Given the description of an element on the screen output the (x, y) to click on. 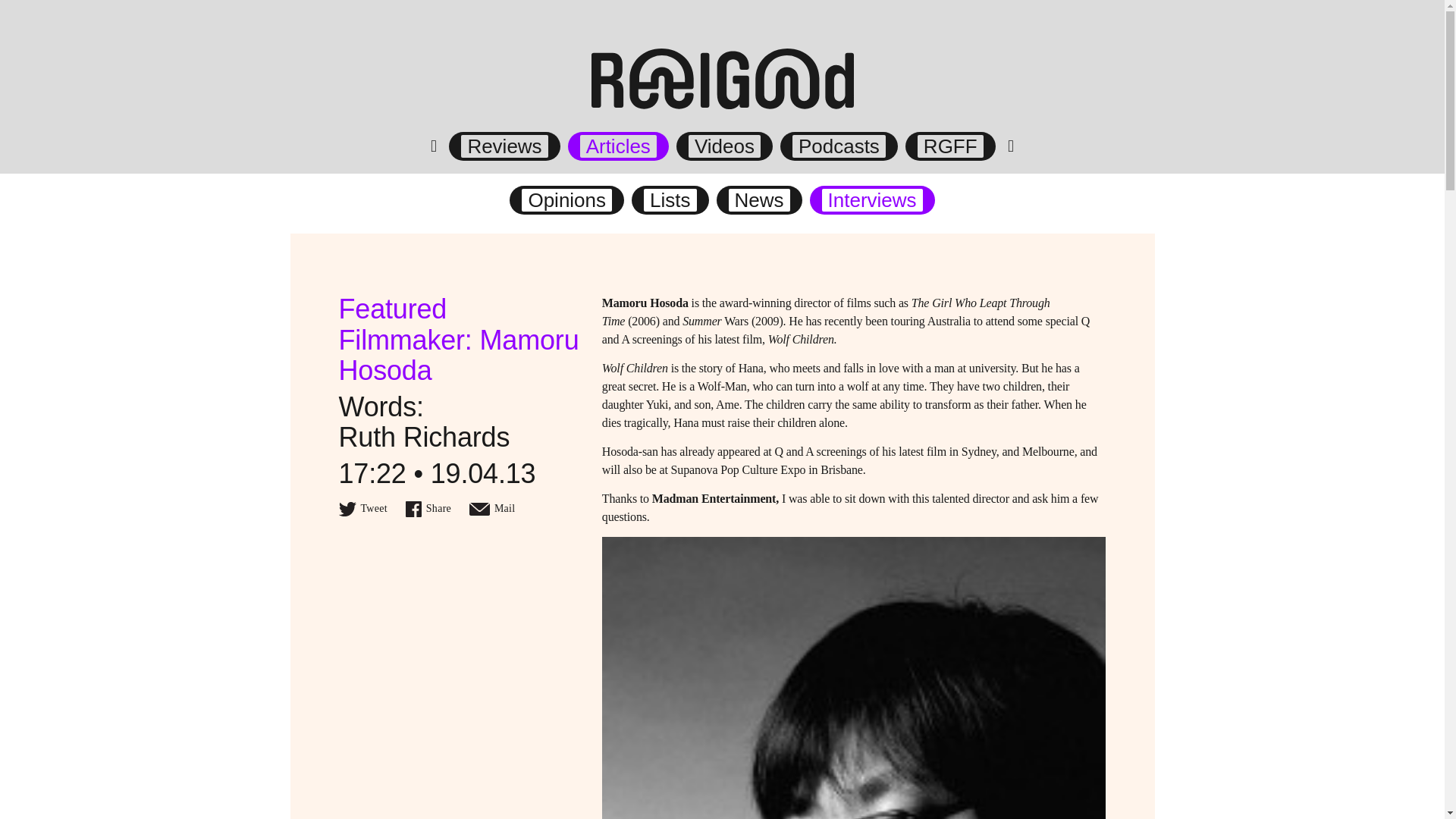
Reviews (504, 146)
News (759, 200)
Opinions (566, 200)
RGFF (950, 146)
Mamoru Hosoda (645, 302)
Twitter (362, 508)
Interviews (872, 200)
Lists (669, 200)
Podcasts (838, 146)
Facebook (428, 508)
